Given the description of an element on the screen output the (x, y) to click on. 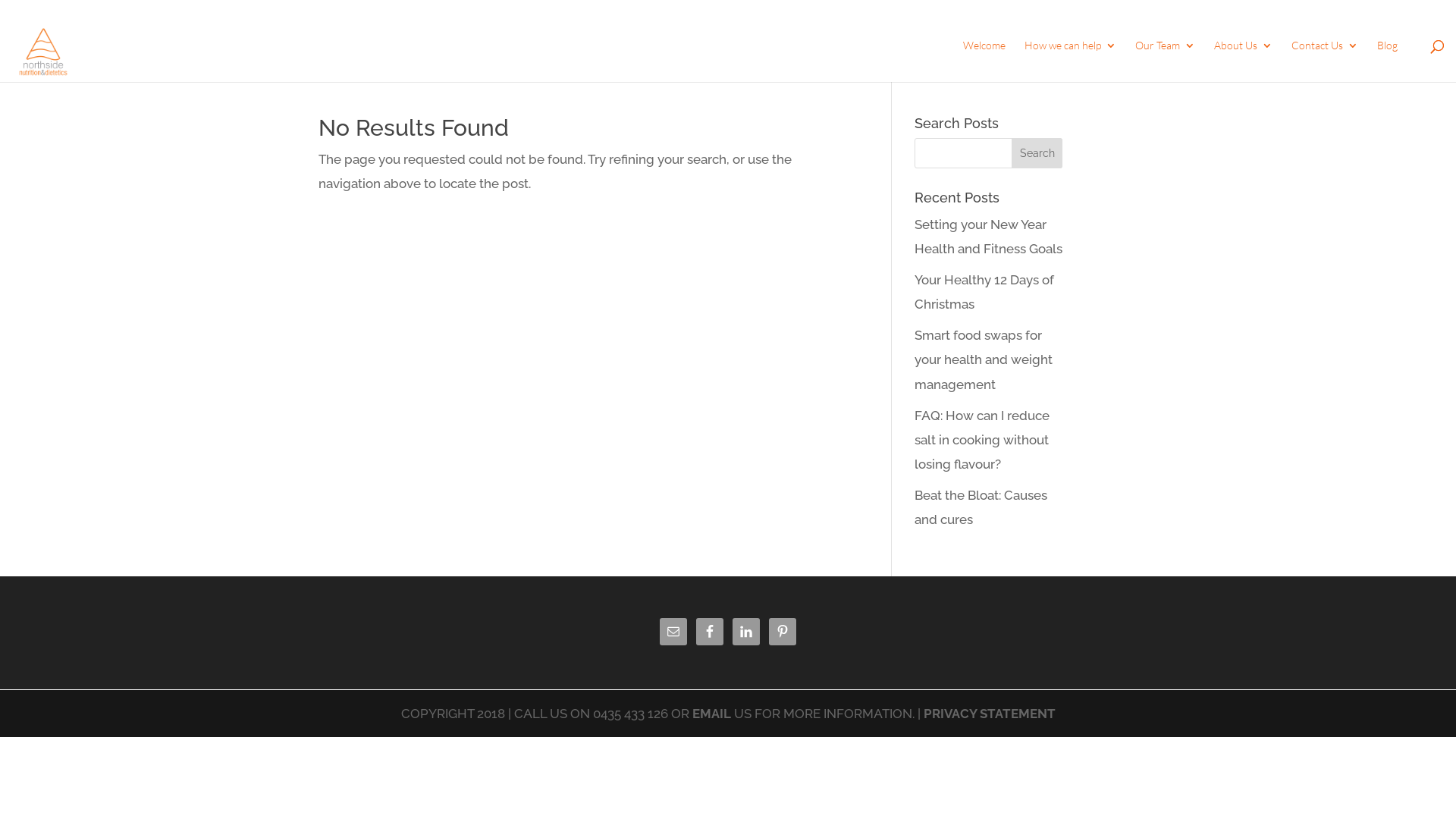
Blog Element type: text (1387, 60)
Your Healthy 12 Days of Christmas Element type: text (984, 291)
Welcome Element type: text (984, 60)
Our Team Element type: text (1165, 60)
Search Element type: text (1037, 153)
Setting your New Year Health and Fitness Goals Element type: text (988, 236)
PRIVACY STATEMENT Element type: text (989, 713)
How we can help Element type: text (1070, 60)
EMAIL Element type: text (710, 713)
About Us Element type: text (1243, 60)
Smart food swaps for your health and weight management Element type: text (983, 359)
Contact Us Element type: text (1324, 60)
Beat the Bloat: Causes and cures Element type: text (980, 507)
